Given the description of an element on the screen output the (x, y) to click on. 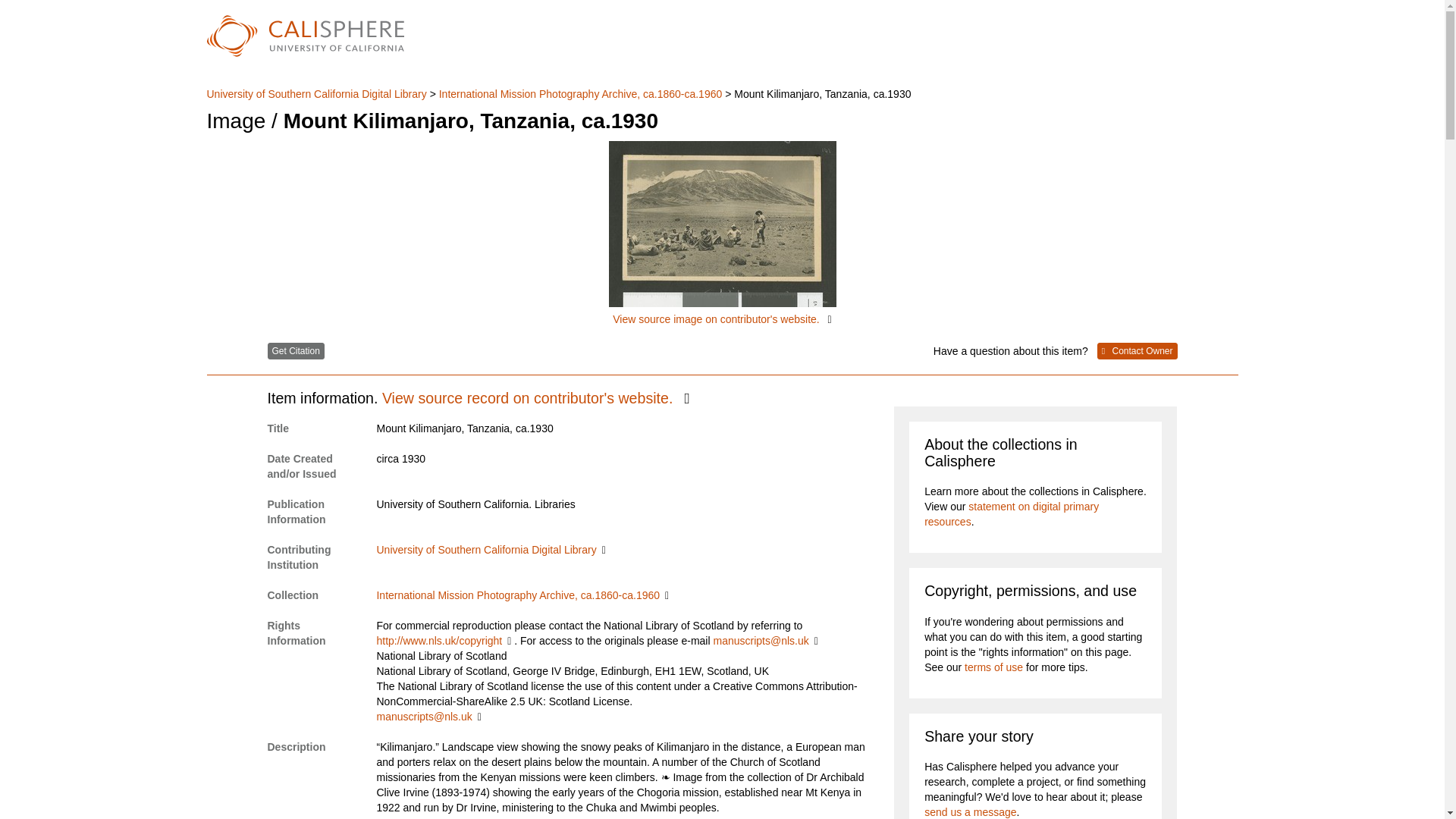
View source image on contributor's website. (721, 233)
Contact Owner (1137, 351)
statement on digital primary resources (1011, 513)
terms of use (993, 666)
View source record on contributor's website. (535, 397)
send us a message (970, 811)
University of Southern California Digital Library (317, 93)
International Mission Photography Archive, ca.1860-ca.1960 (580, 93)
Get Citation (294, 351)
International Mission Photography Archive, ca.1860-ca.1960 (521, 594)
University of Southern California Digital Library (490, 549)
